Given the description of an element on the screen output the (x, y) to click on. 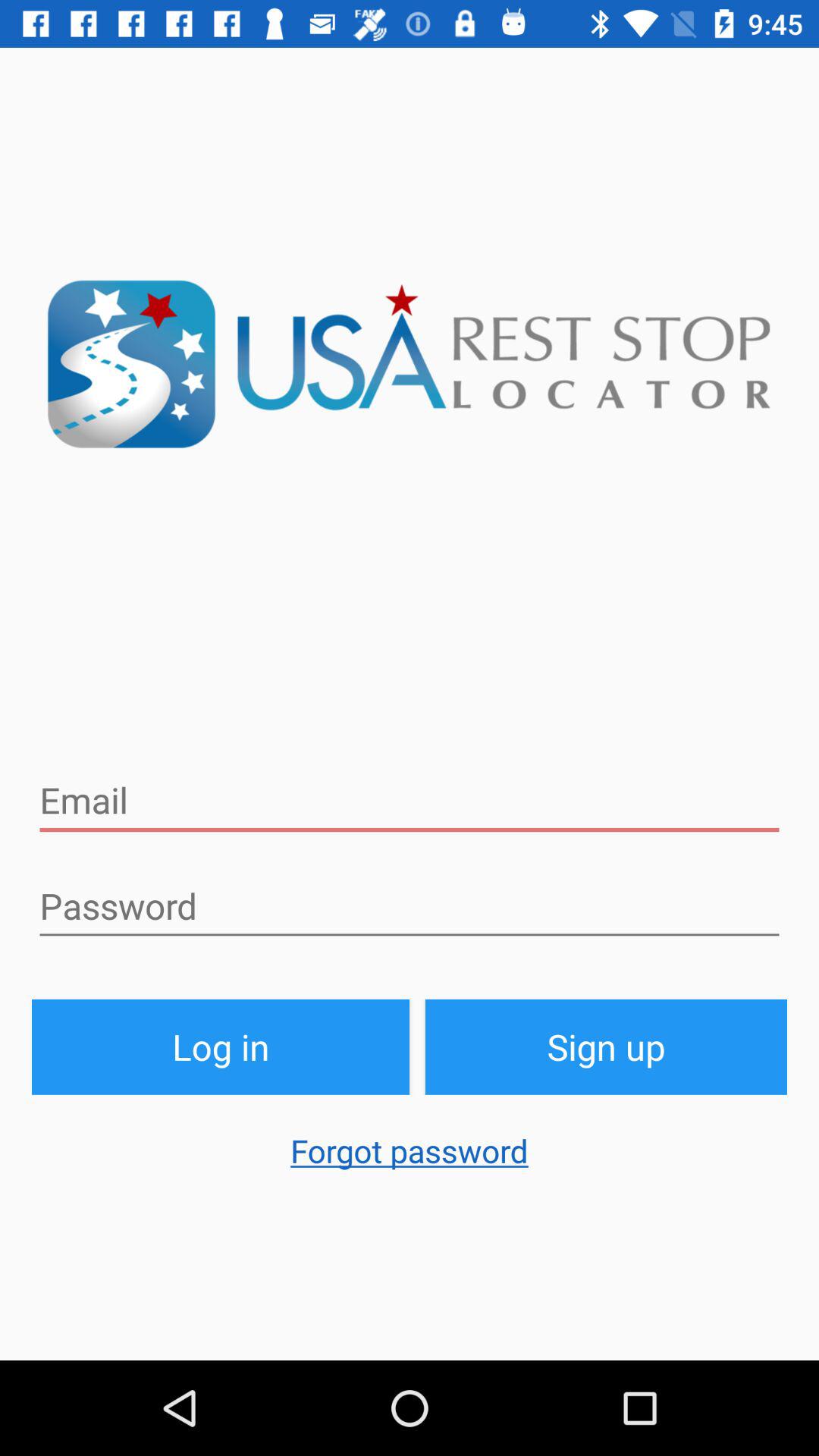
turn on item at the bottom left corner (220, 1046)
